Given the description of an element on the screen output the (x, y) to click on. 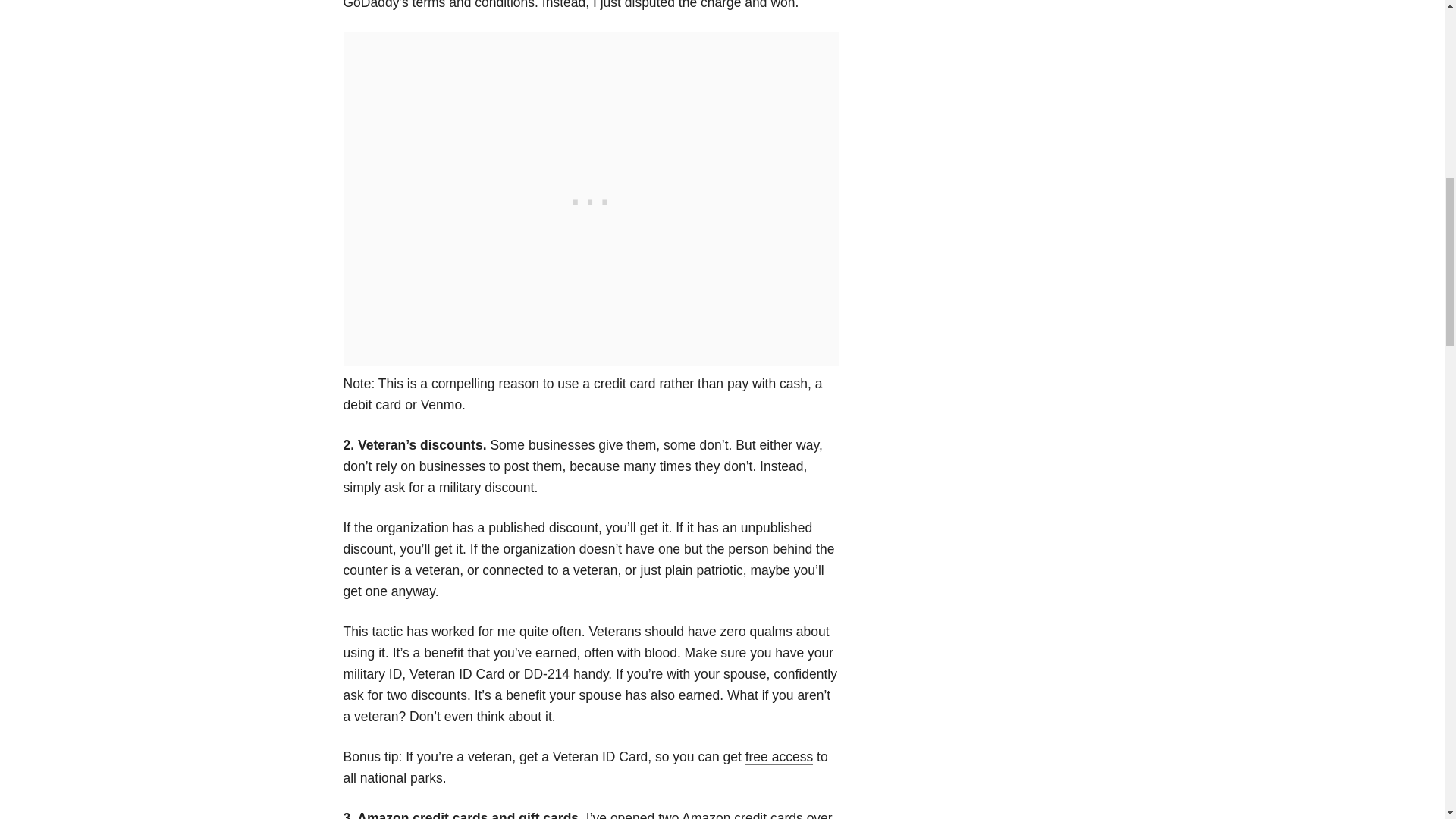
Veteran ID (440, 674)
DD-214 (546, 674)
free access (778, 756)
